Given the description of an element on the screen output the (x, y) to click on. 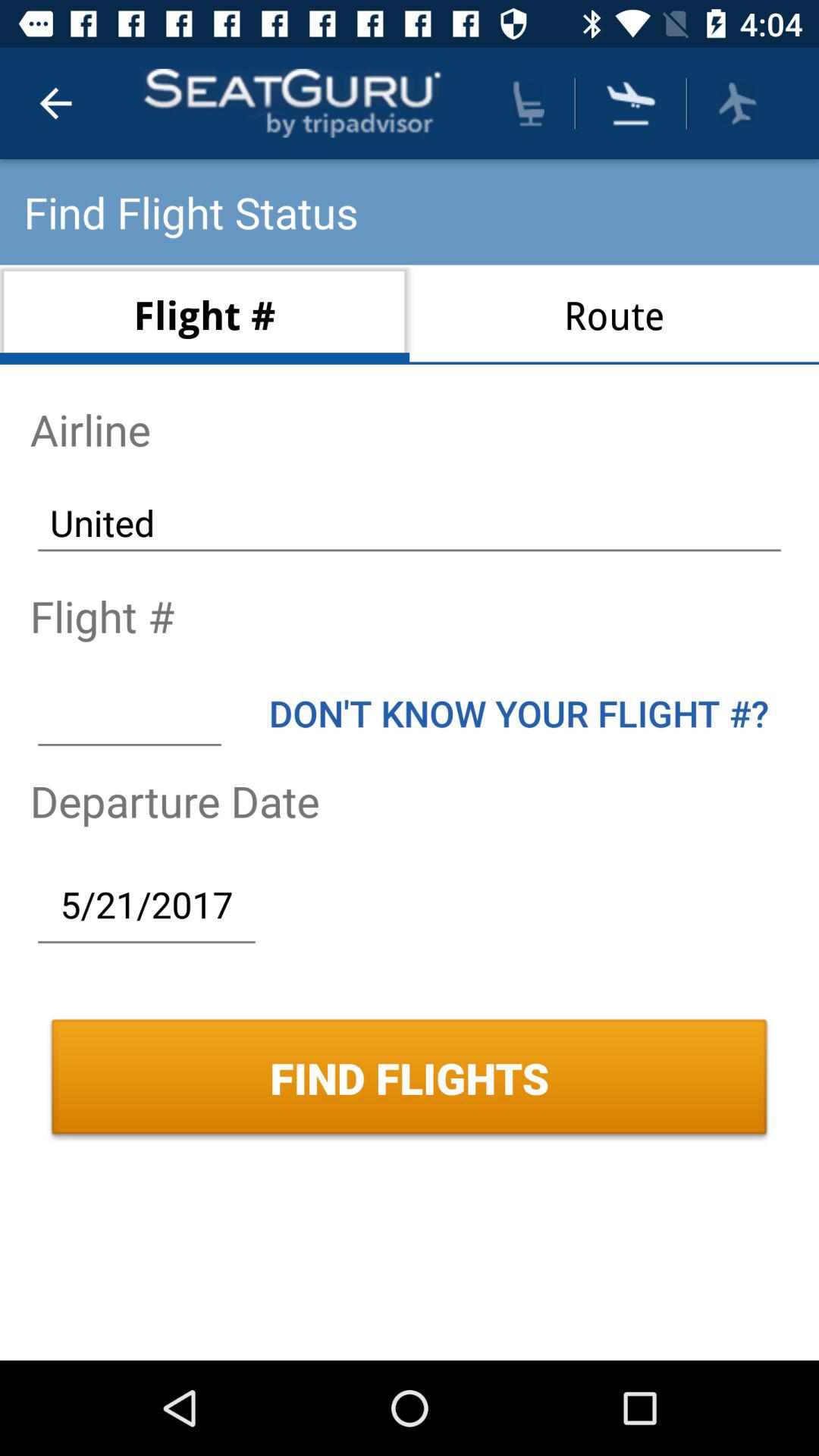
tap item below the 5/21/2017 (409, 1077)
